Given the description of an element on the screen output the (x, y) to click on. 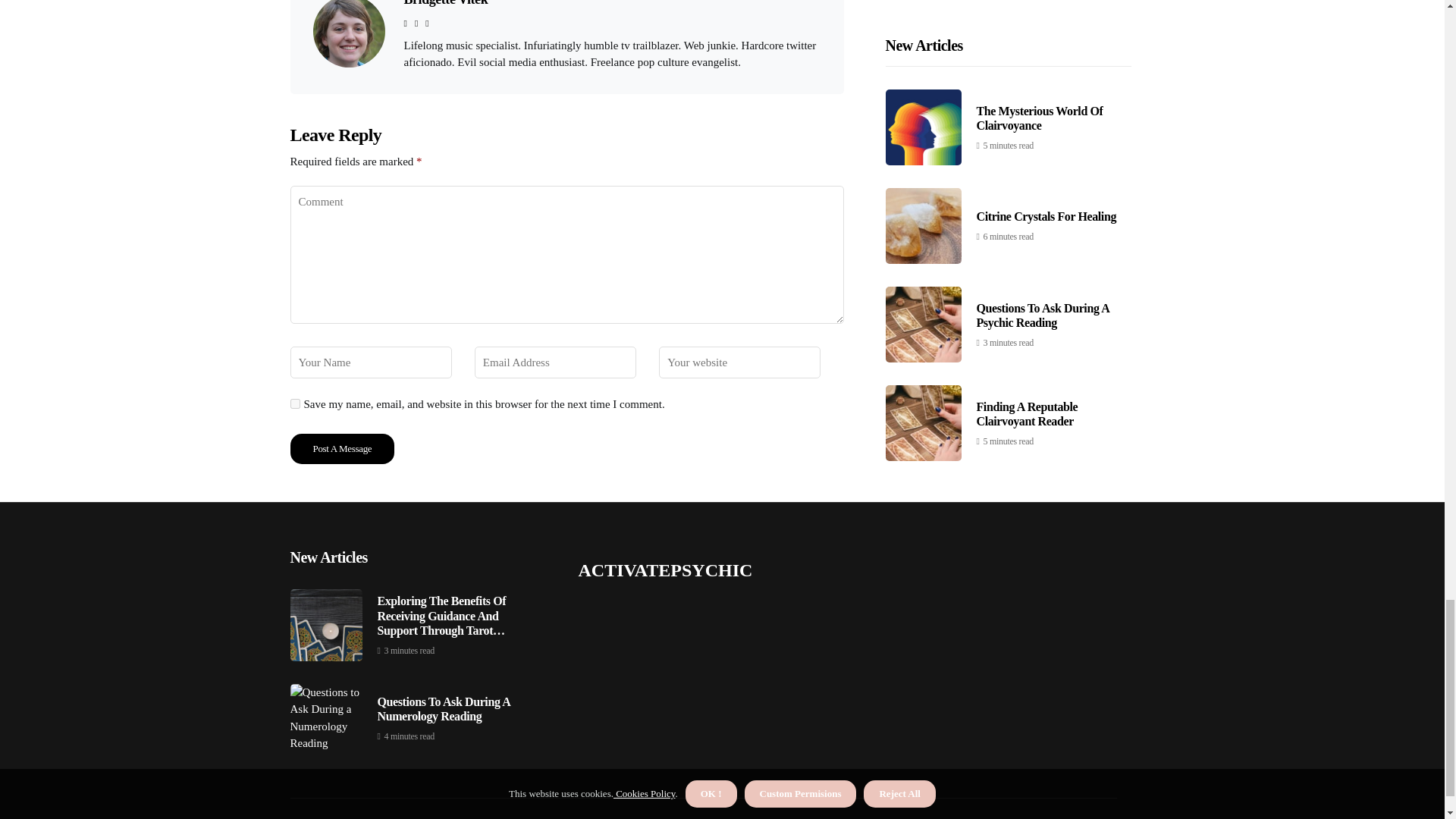
Post a Message (341, 449)
yes (294, 403)
